Given the description of an element on the screen output the (x, y) to click on. 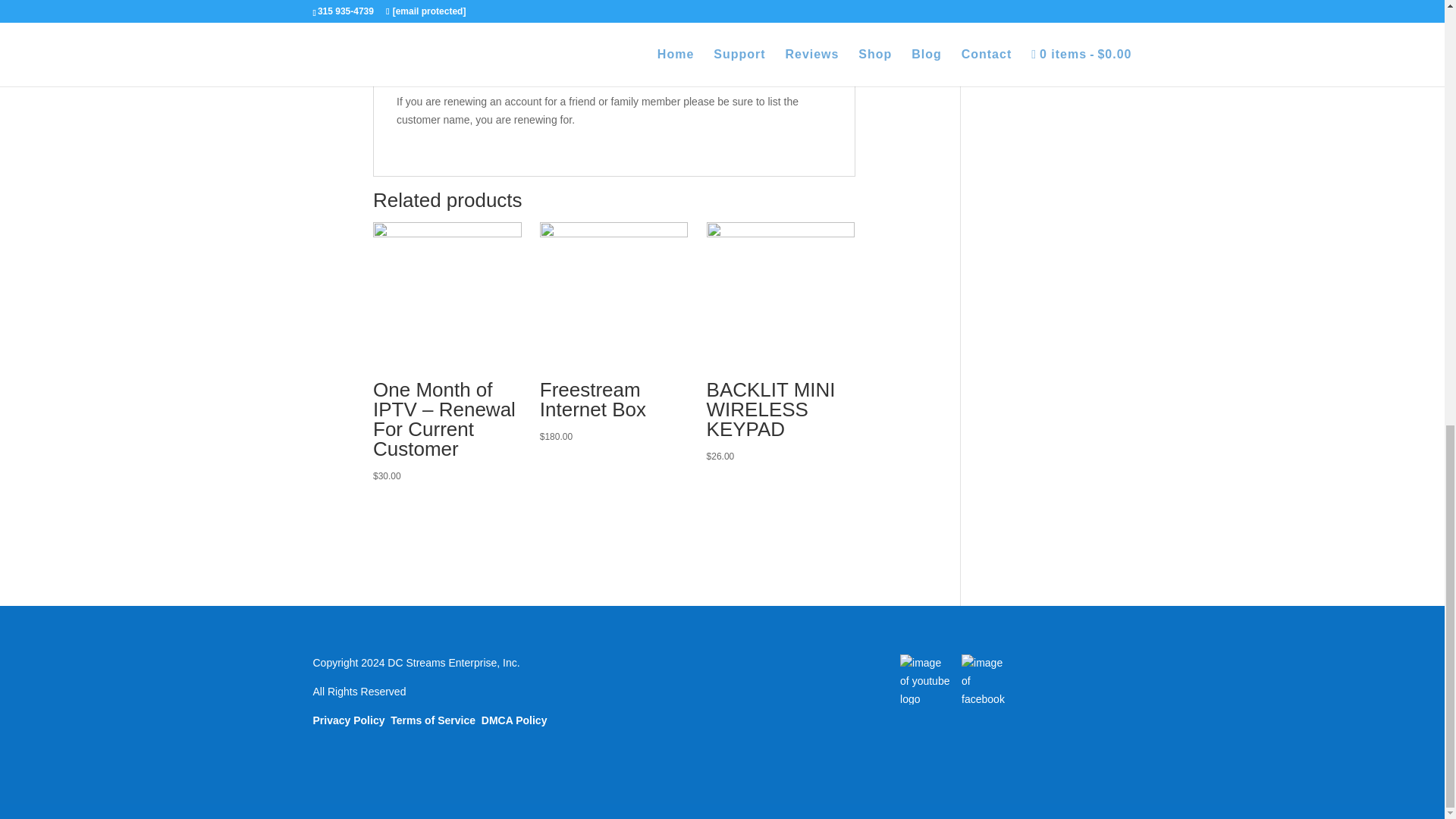
Privacy Policy (348, 720)
DMCA Policy (514, 720)
Terms of Service (433, 720)
